Given the description of an element on the screen output the (x, y) to click on. 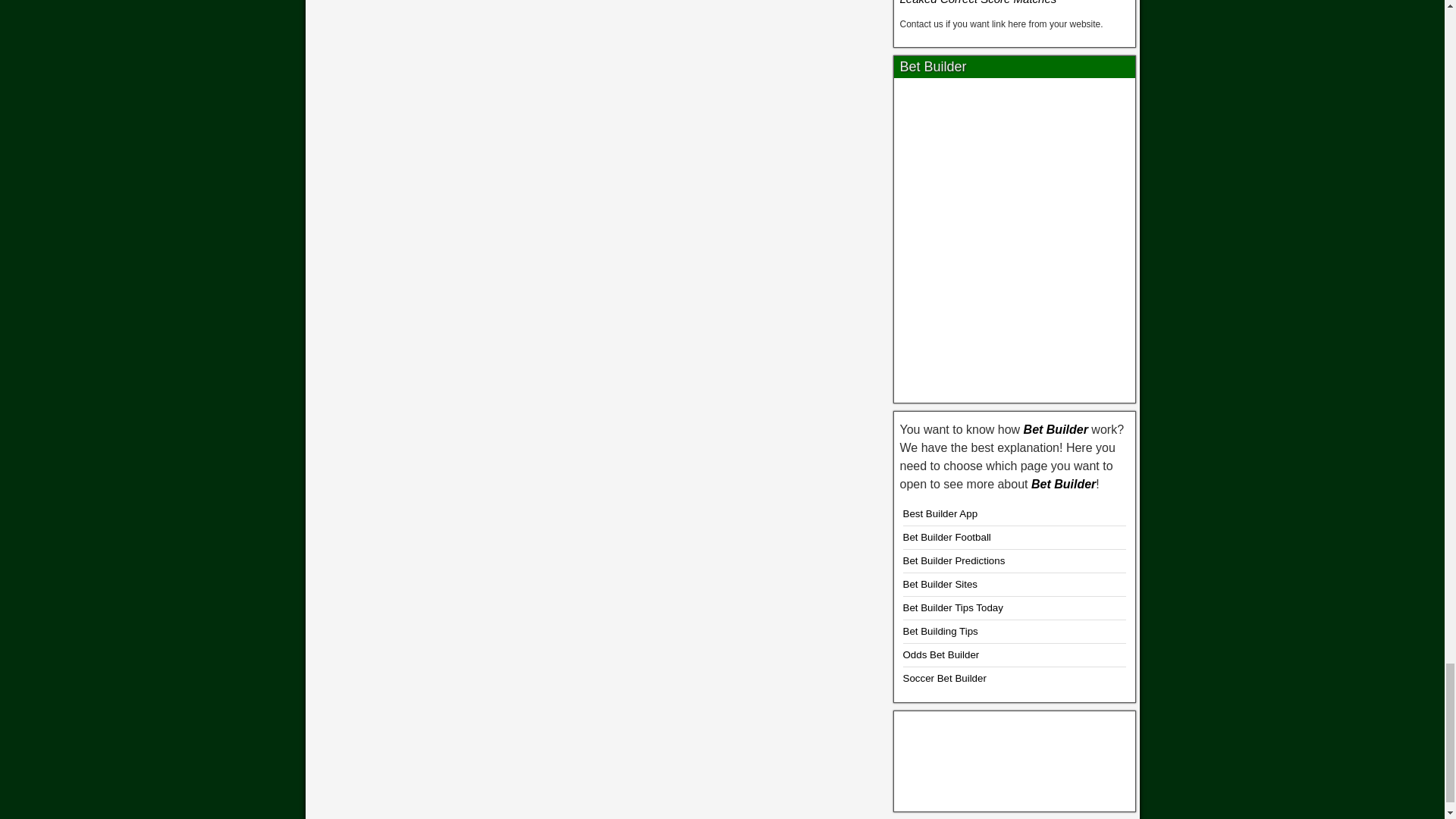
big odds fixed matches (1014, 758)
